Given the description of an element on the screen output the (x, y) to click on. 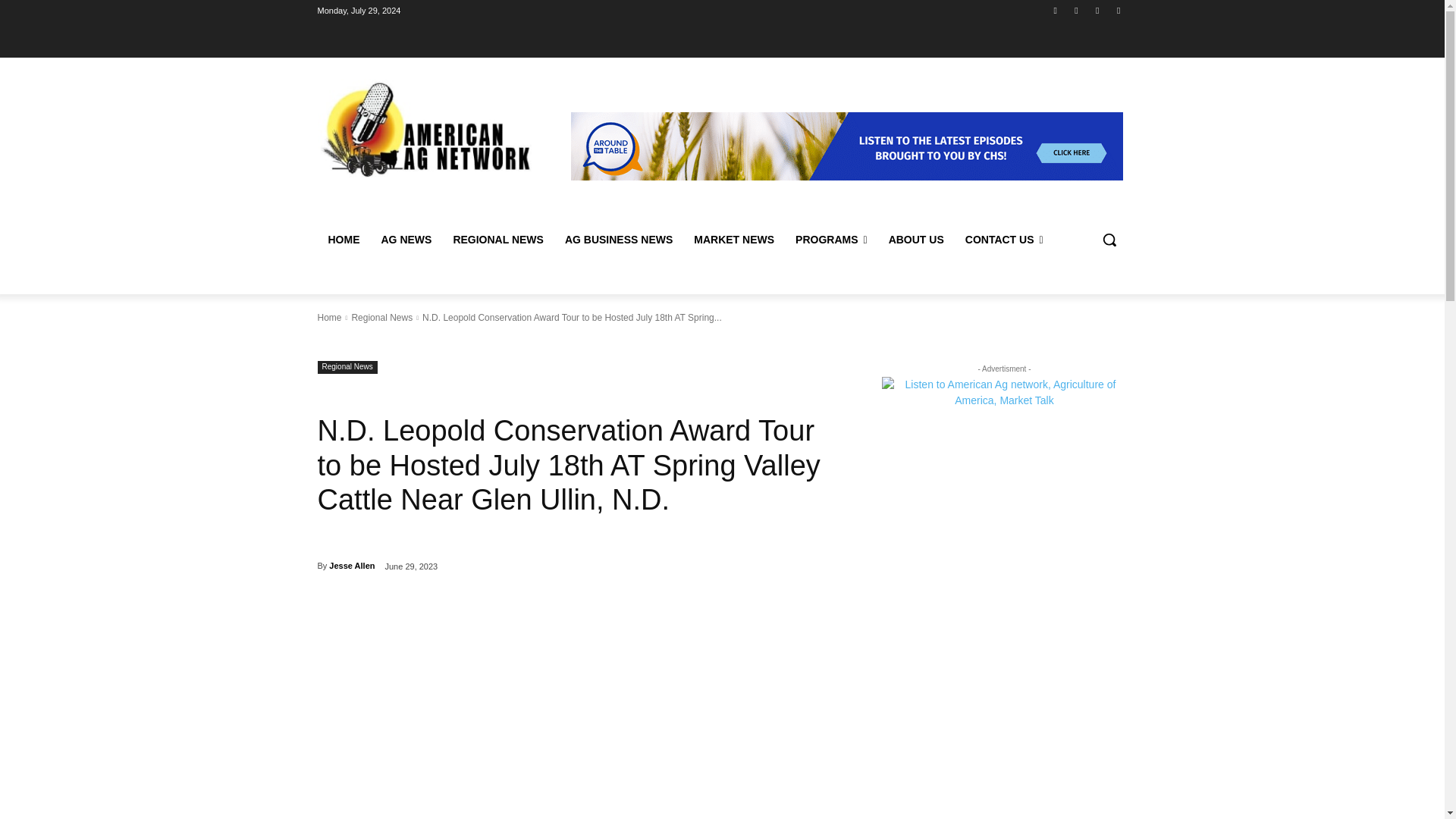
PROGRAMS (830, 239)
Instagram (1075, 9)
AG BUSINESS NEWS (618, 239)
REGIONAL NEWS (498, 239)
ABOUT US (916, 239)
Youtube (1117, 9)
HOME (343, 239)
AG NEWS (405, 239)
Twitter (1097, 9)
View all posts in Regional News (381, 317)
CONTACT US (1004, 239)
MARKET NEWS (733, 239)
Facebook (1055, 9)
